Given the description of an element on the screen output the (x, y) to click on. 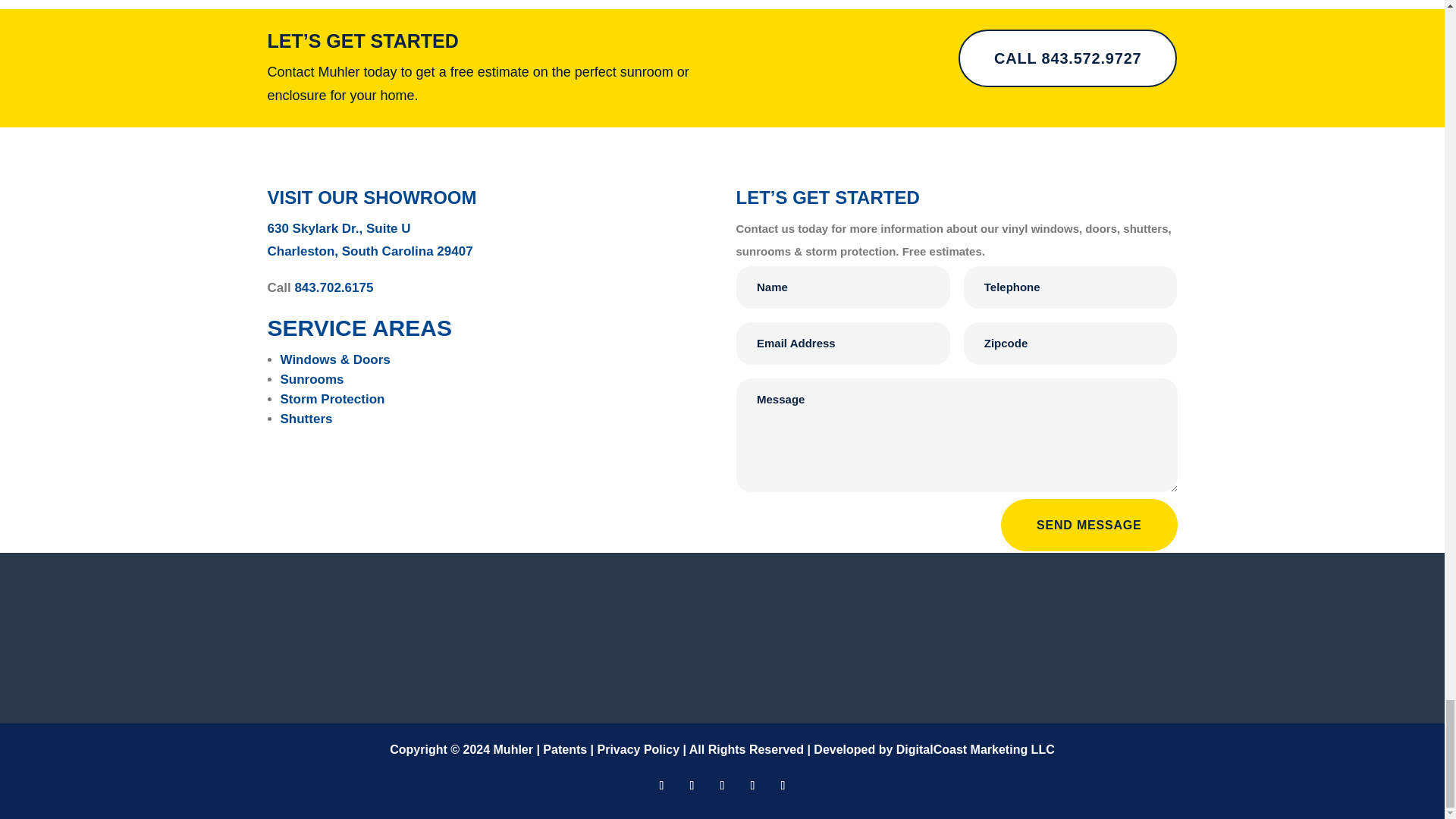
Storm Protection (333, 399)
Privacy Policy (637, 748)
630 Skylark Dr., Suite U (338, 228)
DigitalCoast Marketing LLC (975, 748)
SEND MESSAGE (1089, 524)
Shutters (307, 418)
Follow on Instagram (782, 785)
Sunrooms (312, 379)
CALL 843.572.9727 (1067, 57)
Follow on X (751, 785)
